Given the description of an element on the screen output the (x, y) to click on. 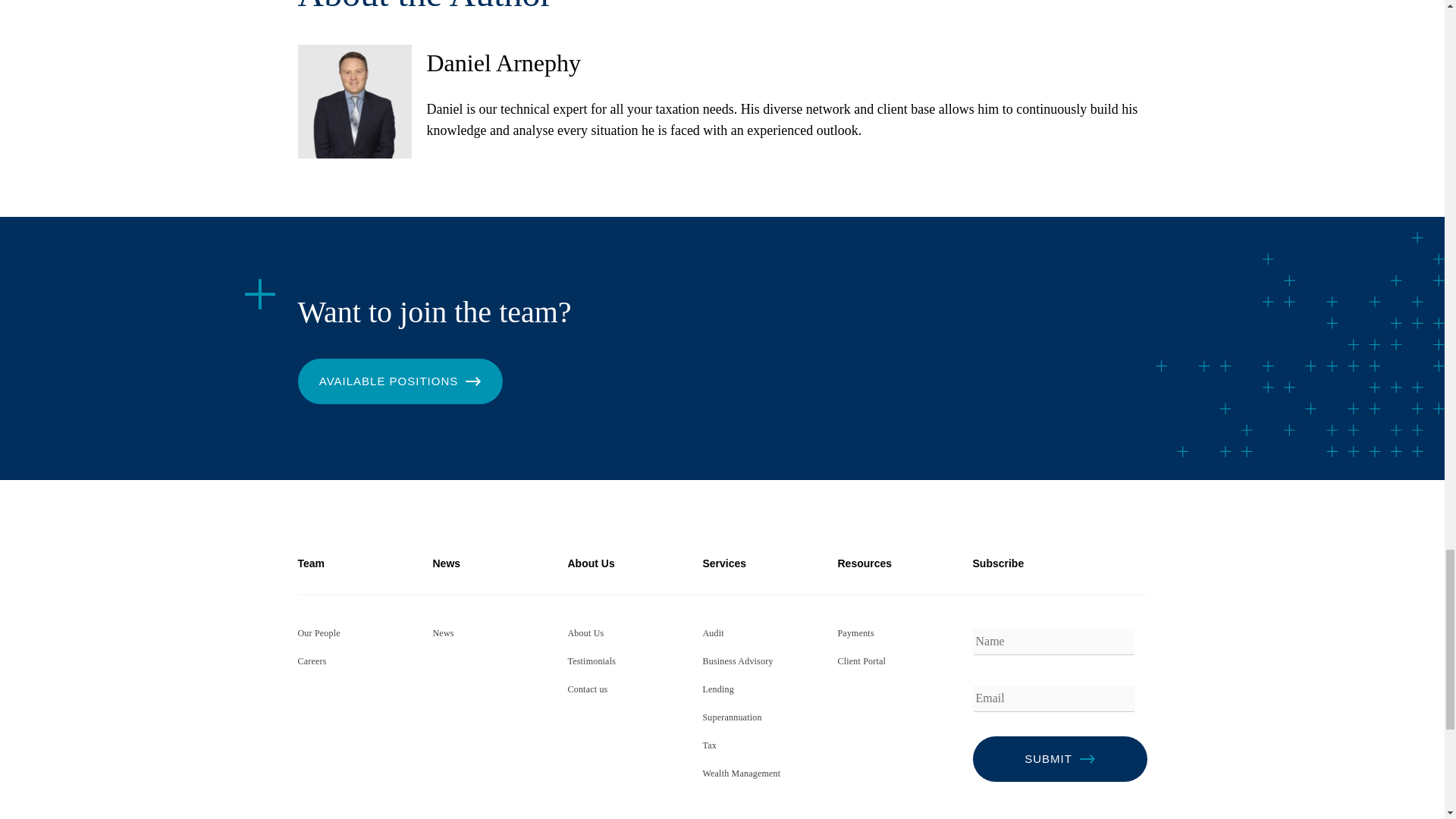
Business Advisory (737, 661)
About Us (585, 633)
Careers (311, 661)
Testimonials (591, 661)
AVAILABLE POSITIONS (399, 381)
Contact us (587, 688)
News (442, 633)
Audit (712, 633)
Our People (318, 633)
